Given the description of an element on the screen output the (x, y) to click on. 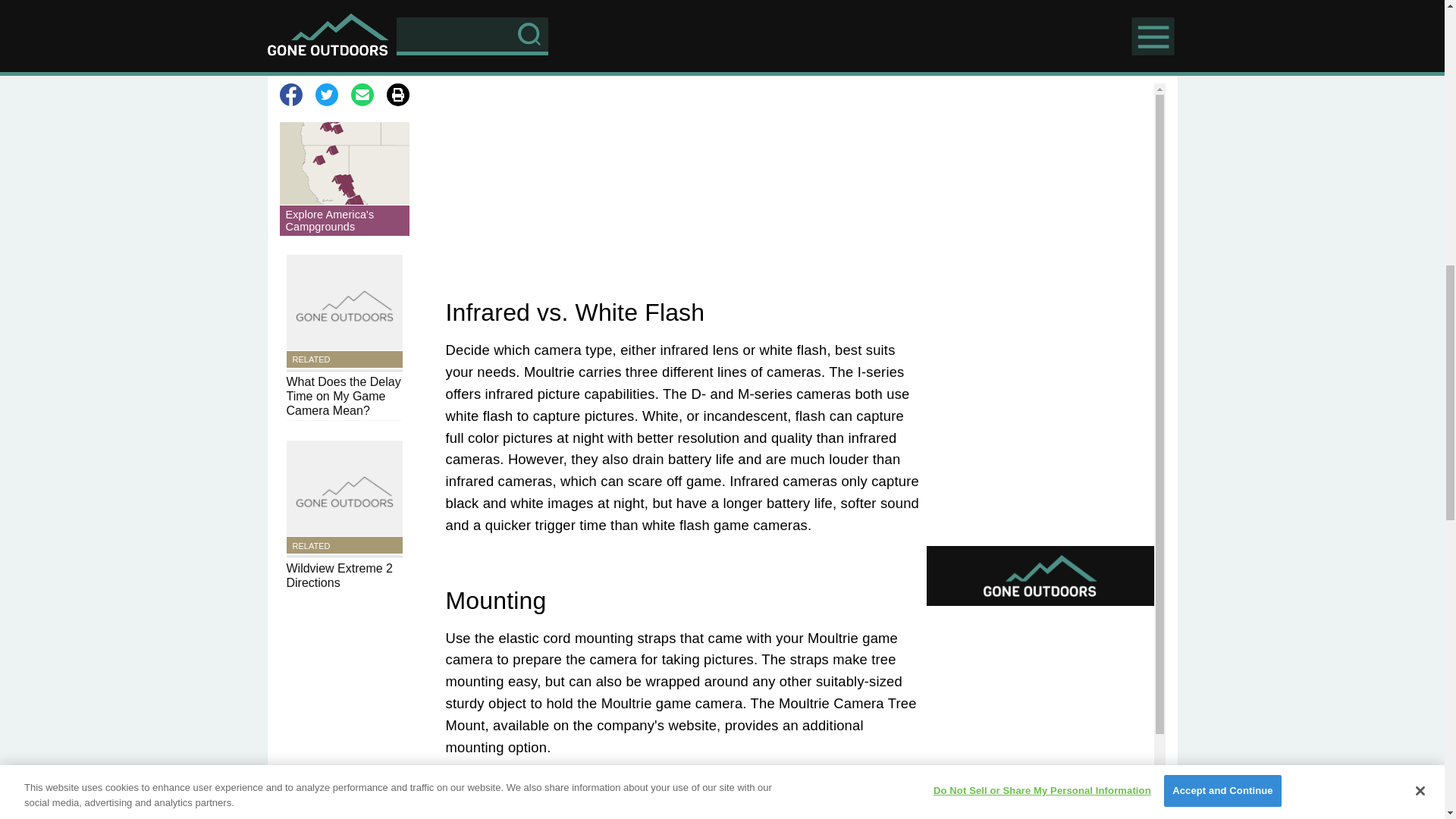
Advertisement (681, 178)
3rd party ad content (345, 7)
3rd party ad content (682, 24)
